Given the description of an element on the screen output the (x, y) to click on. 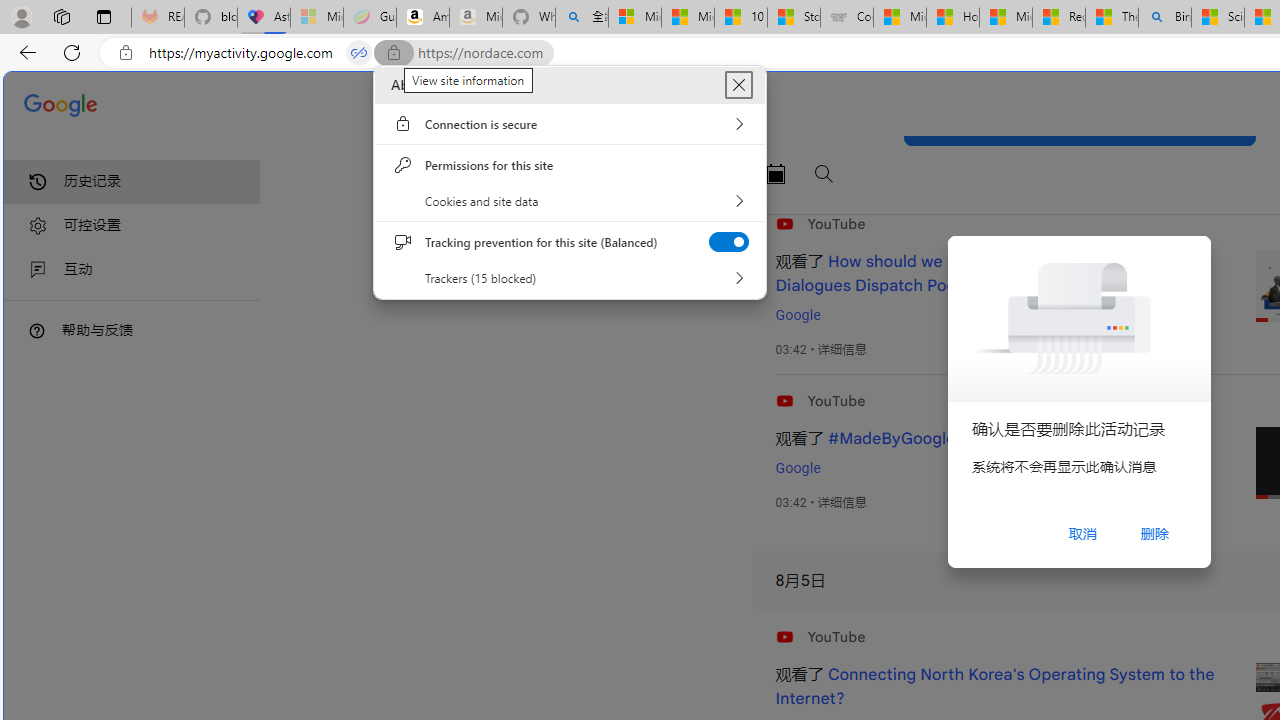
Class: i2GIId (38, 269)
Bing (1165, 17)
